Given the description of an element on the screen output the (x, y) to click on. 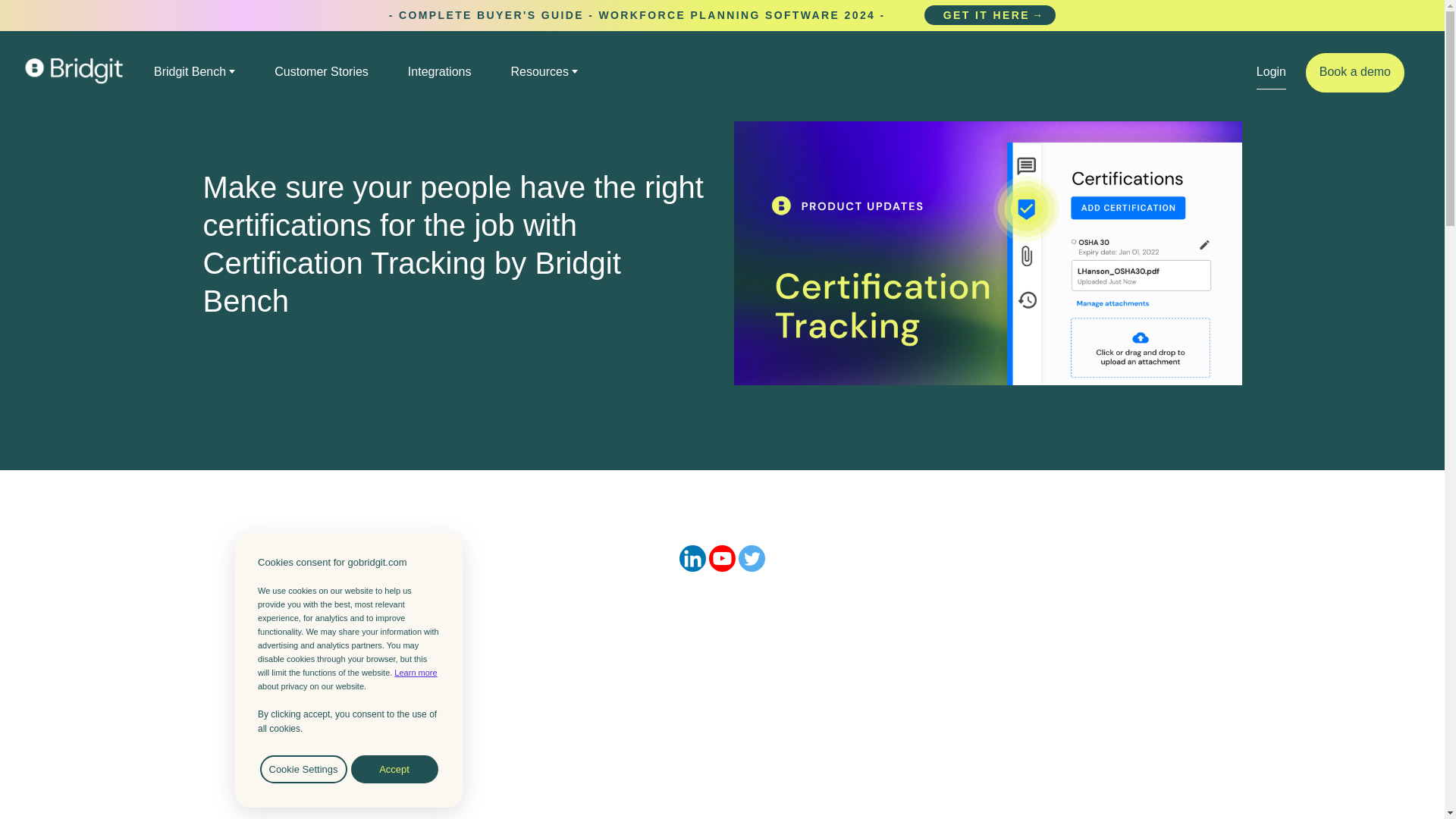
Resources (544, 71)
Resources (544, 71)
Customer Stories (321, 71)
Integrations (439, 71)
Customer Stories (321, 71)
Bridgit Bench (194, 71)
GET IT HERE (989, 14)
Bridgit Bench (194, 71)
Integrations (439, 71)
Book a demo (1355, 73)
